Given the description of an element on the screen output the (x, y) to click on. 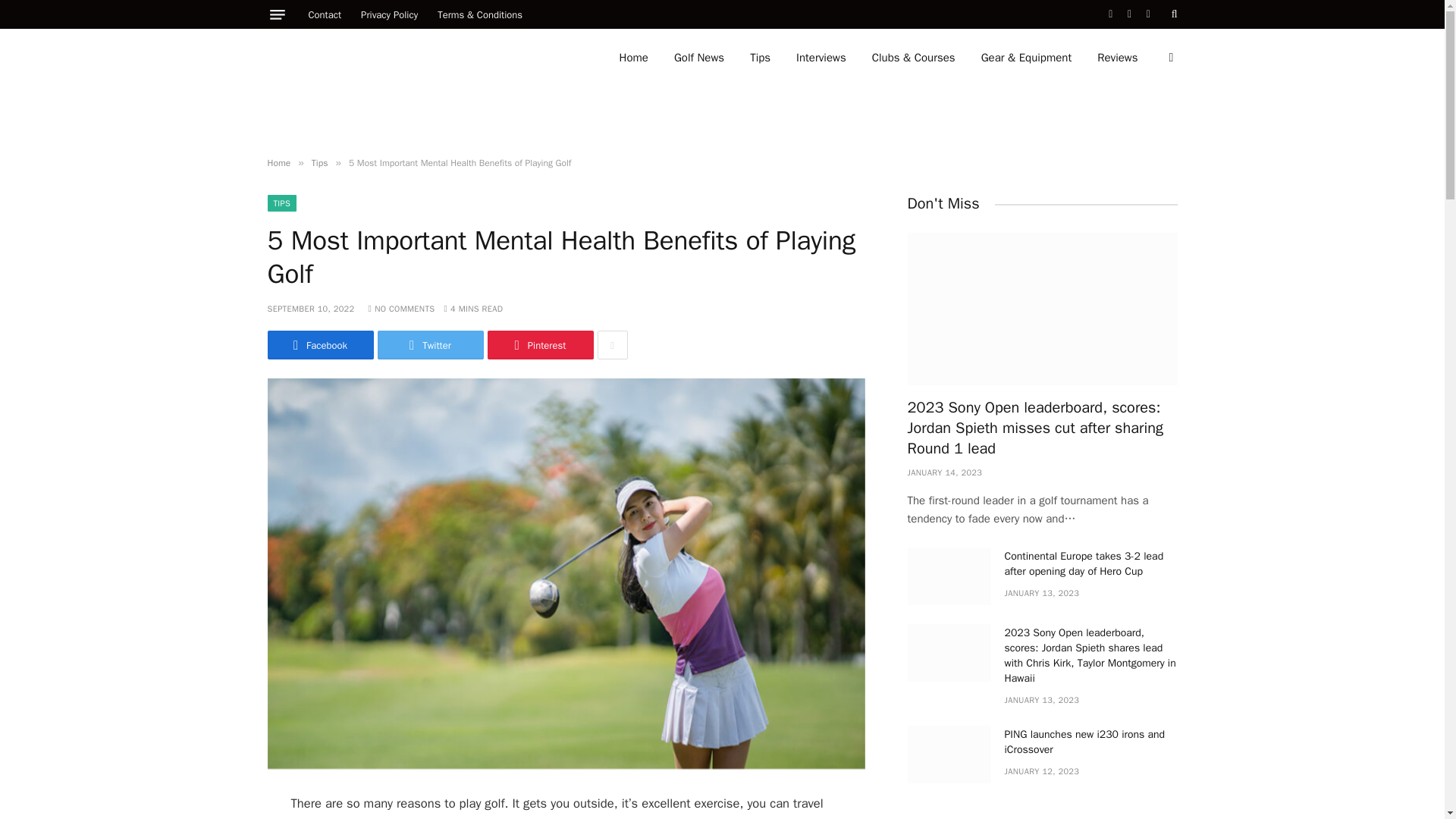
Share on Facebook (319, 344)
Privacy Policy (389, 14)
Reviews (1117, 57)
Instagram (1148, 14)
Golf News (698, 57)
Switch to Dark Design - easier on eyes. (1169, 57)
Contact (325, 14)
Share on Pinterest (539, 344)
Tips (759, 57)
Interviews (821, 57)
Facebook (1110, 14)
Home (634, 57)
Search (1173, 14)
